Given the description of an element on the screen output the (x, y) to click on. 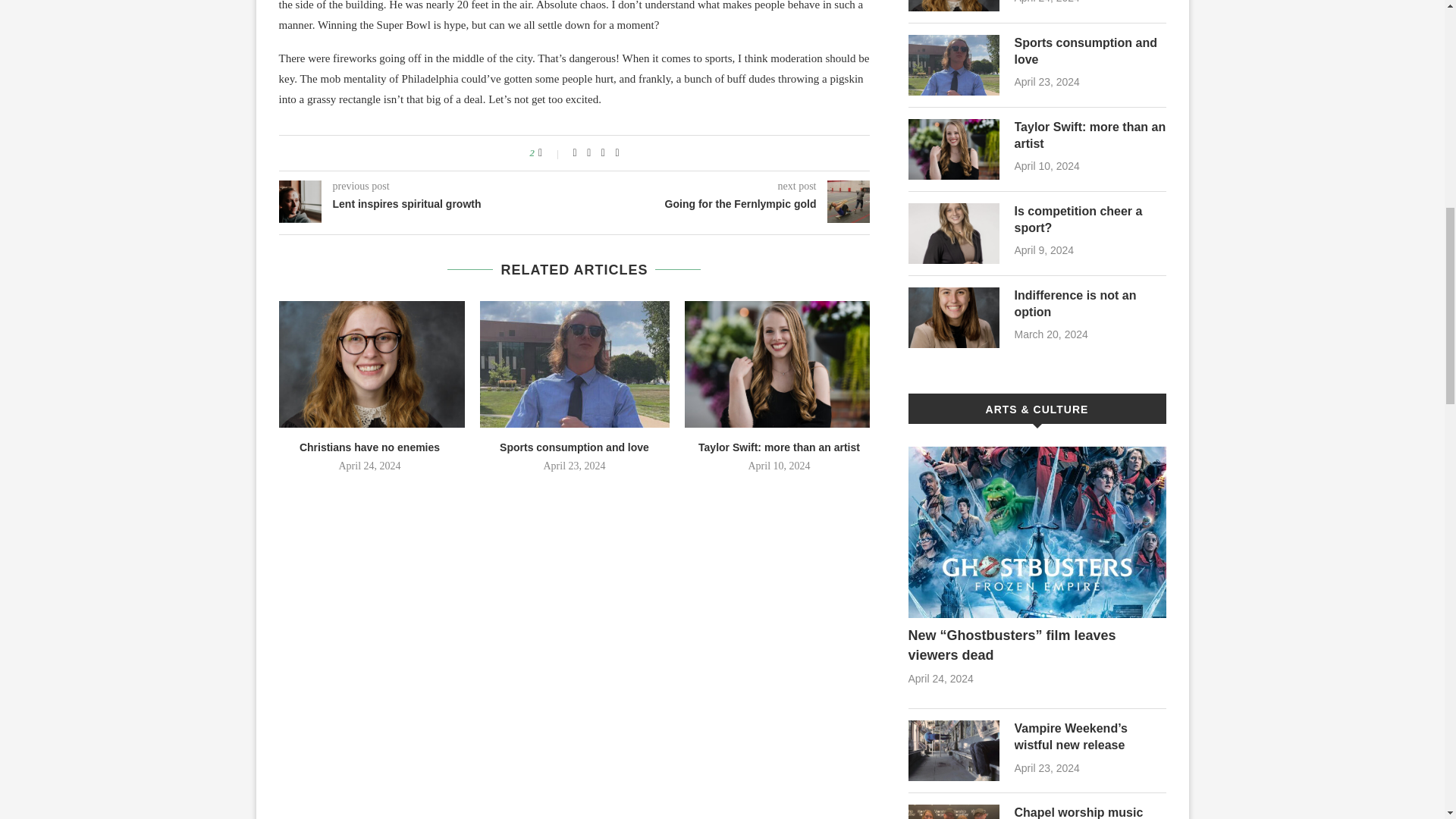
Sports consumption and love (1090, 51)
Christians have no enemies (953, 5)
Like (550, 152)
Taylor Swift: more than an artist (779, 447)
Taylor Swift: more than an artist (953, 148)
Indifference is not an option (953, 317)
Taylor Swift: more than an artist (1090, 135)
Sports consumption and love (953, 65)
Is competition cheer a sport? (1090, 220)
Sports consumption and love (574, 447)
Christians have no enemies (369, 447)
Lent inspires spiritual growth (427, 204)
Christians have no enemies (369, 364)
Taylor Swift: more than an artist (778, 364)
Is competition cheer a sport? (953, 233)
